Given the description of an element on the screen output the (x, y) to click on. 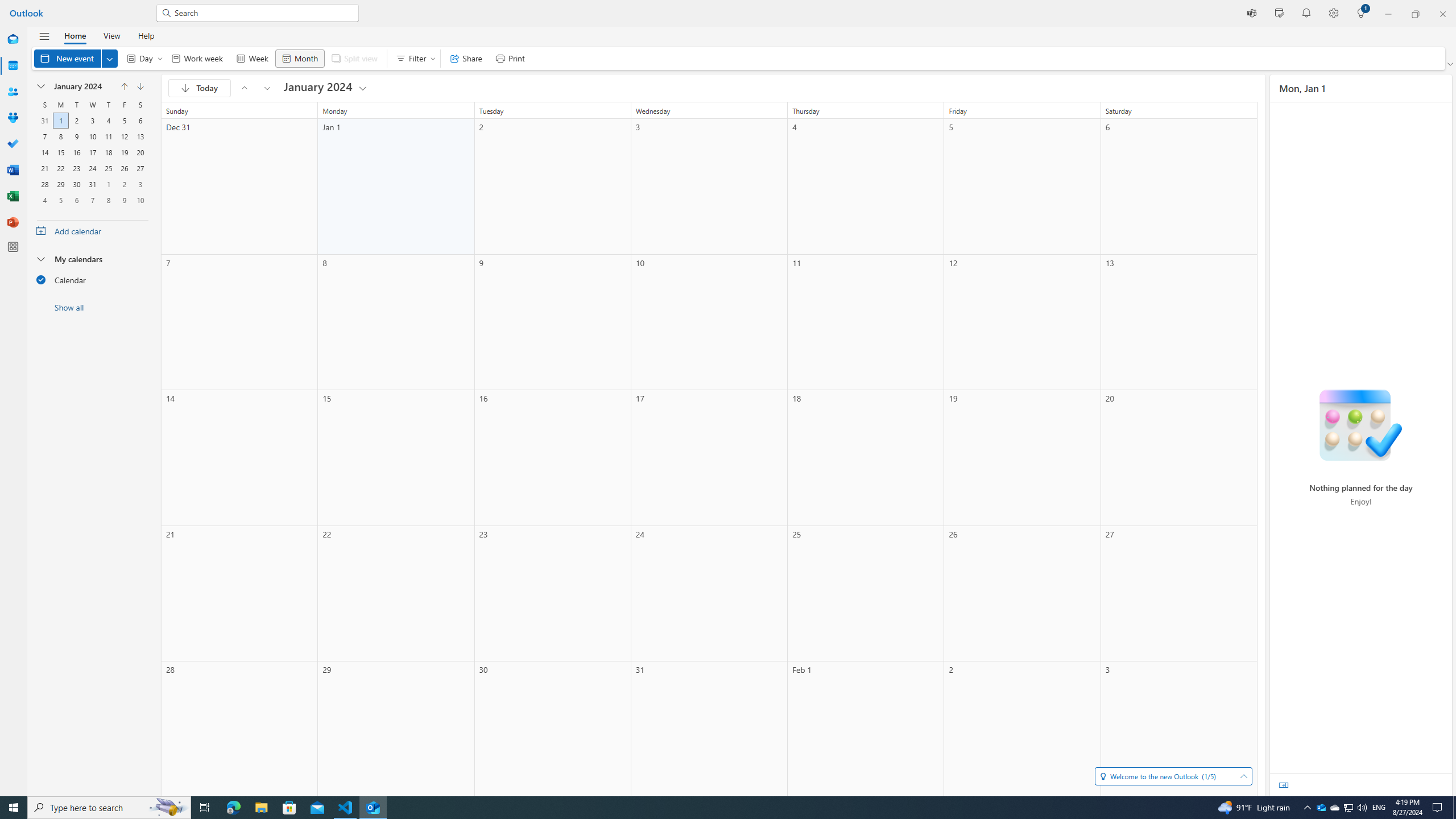
8, February, 2024 (108, 200)
19, January, 2024 (124, 151)
17, January, 2024 (92, 152)
Go to next month February 2024 (266, 88)
7, February, 2024 (92, 200)
Add calendar (92, 230)
4, February, 2024 (44, 200)
3, February, 2024 (140, 183)
Print (510, 58)
27, January, 2024 (140, 168)
Mail (12, 39)
31, December, 2023 (44, 120)
